Given the description of an element on the screen output the (x, y) to click on. 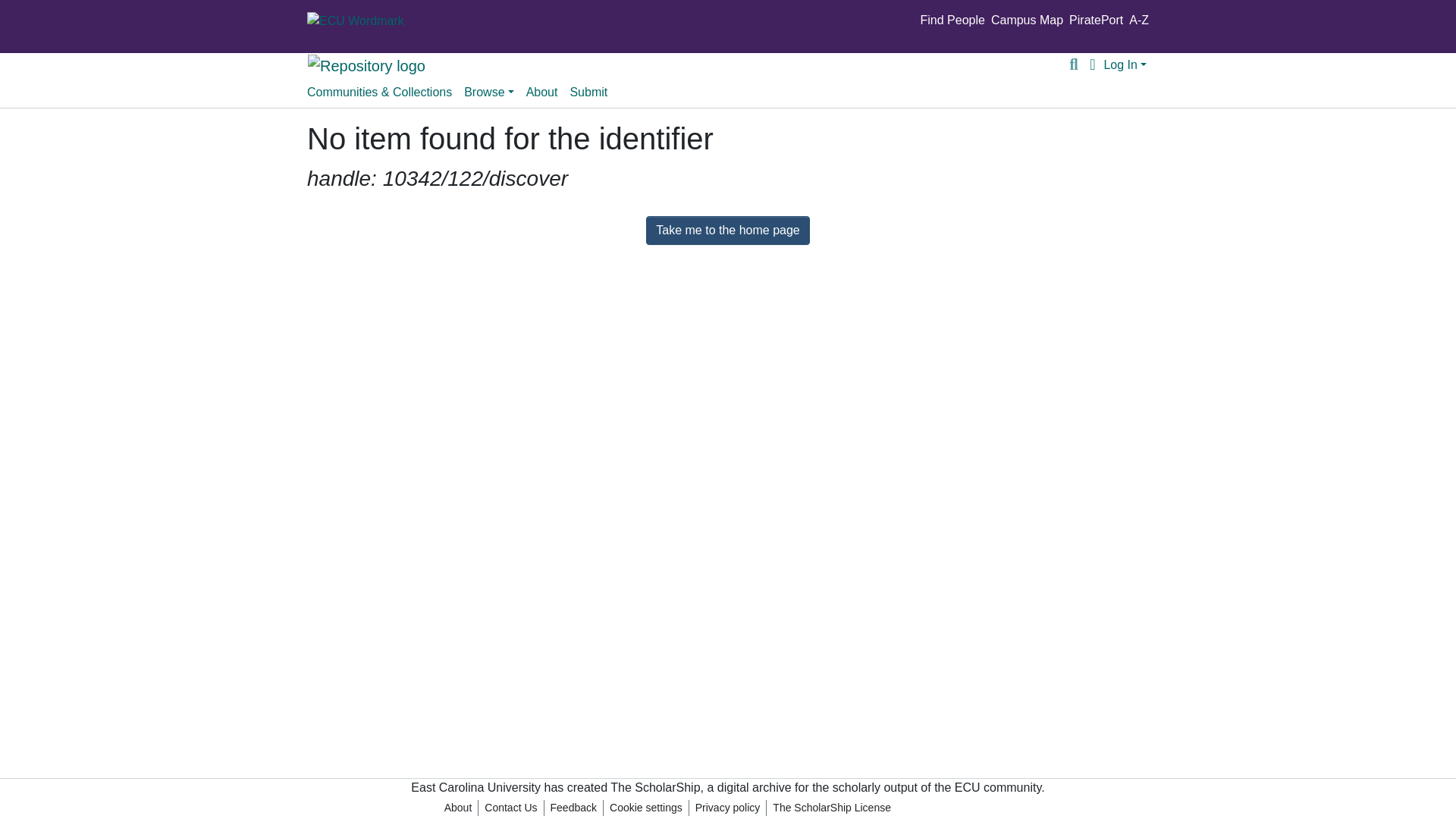
ECU Wordmark (355, 21)
Log In (1125, 64)
PiratePort (1095, 19)
A-Z (1138, 19)
The ScholarShip License (831, 807)
Campus Map (1026, 19)
Submit (587, 91)
Cookie settings (646, 807)
About (541, 91)
Browse (488, 91)
Privacy policy (727, 807)
Take me to the home page (727, 230)
Search (1073, 65)
Language switch (1092, 65)
About (458, 807)
